Given the description of an element on the screen output the (x, y) to click on. 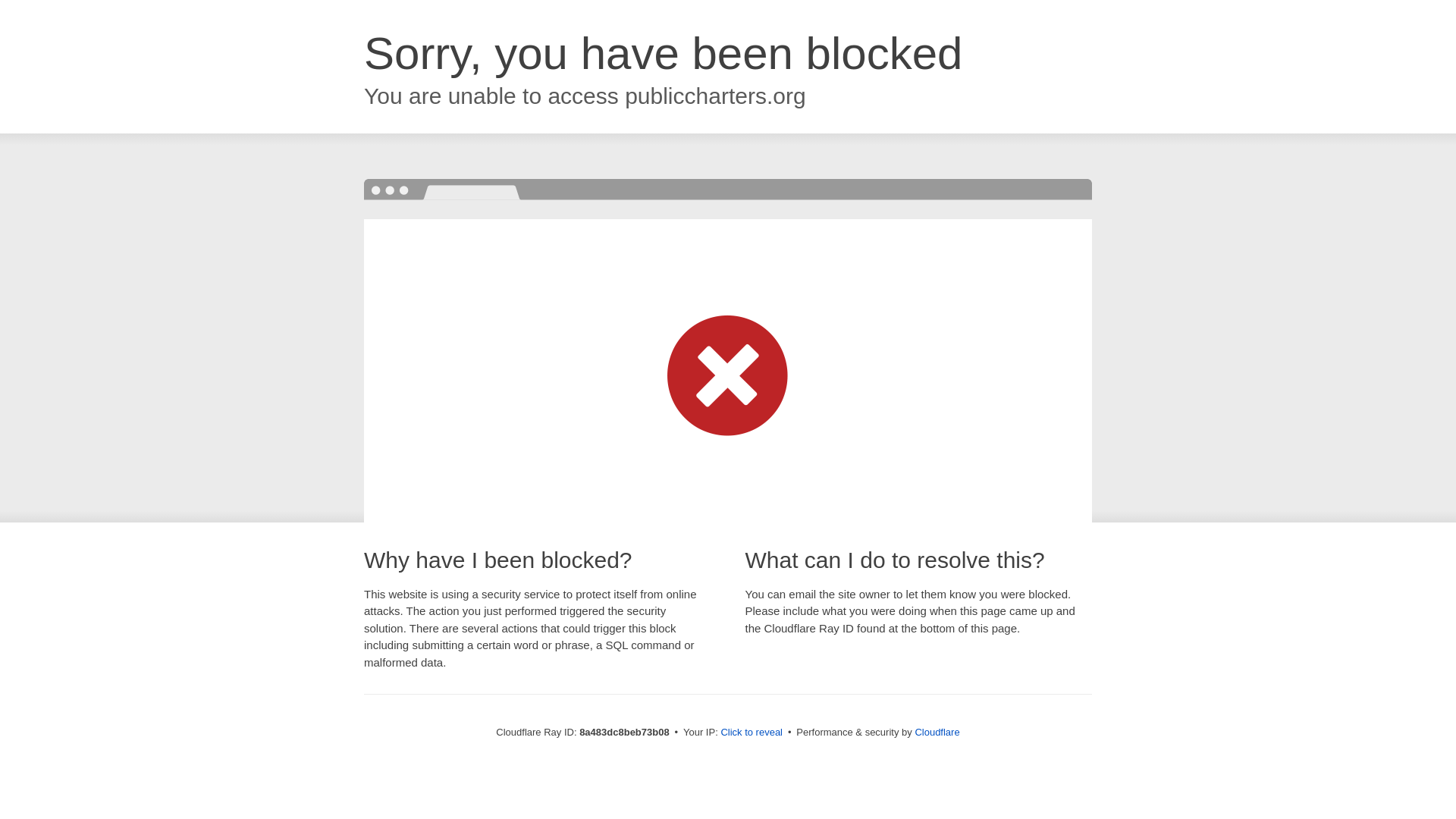
Cloudflare (936, 731)
Click to reveal (751, 732)
